Given the description of an element on the screen output the (x, y) to click on. 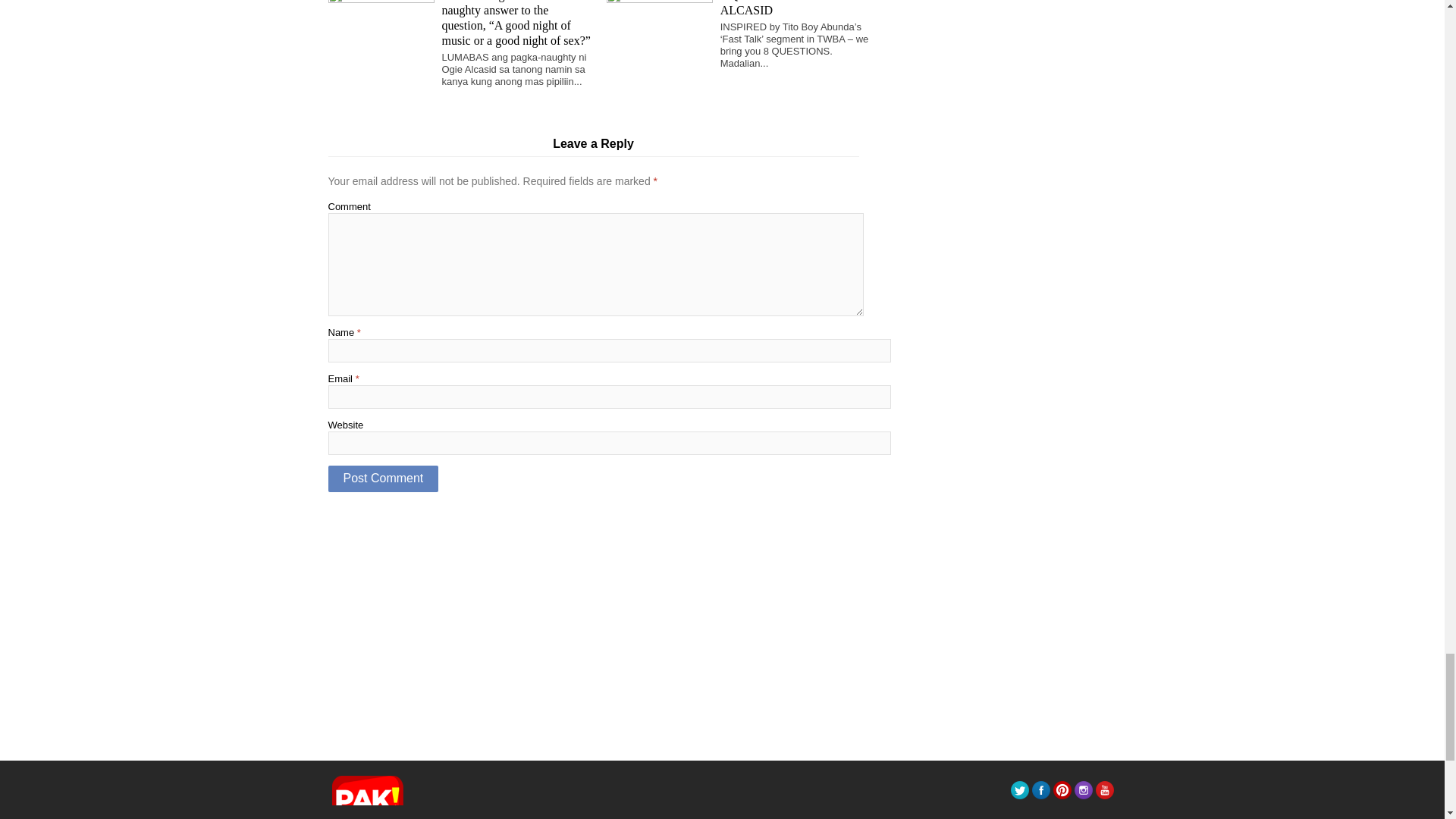
Post Comment (382, 479)
8 QUESTIONS with OGIE ALCASID (786, 8)
